Given the description of an element on the screen output the (x, y) to click on. 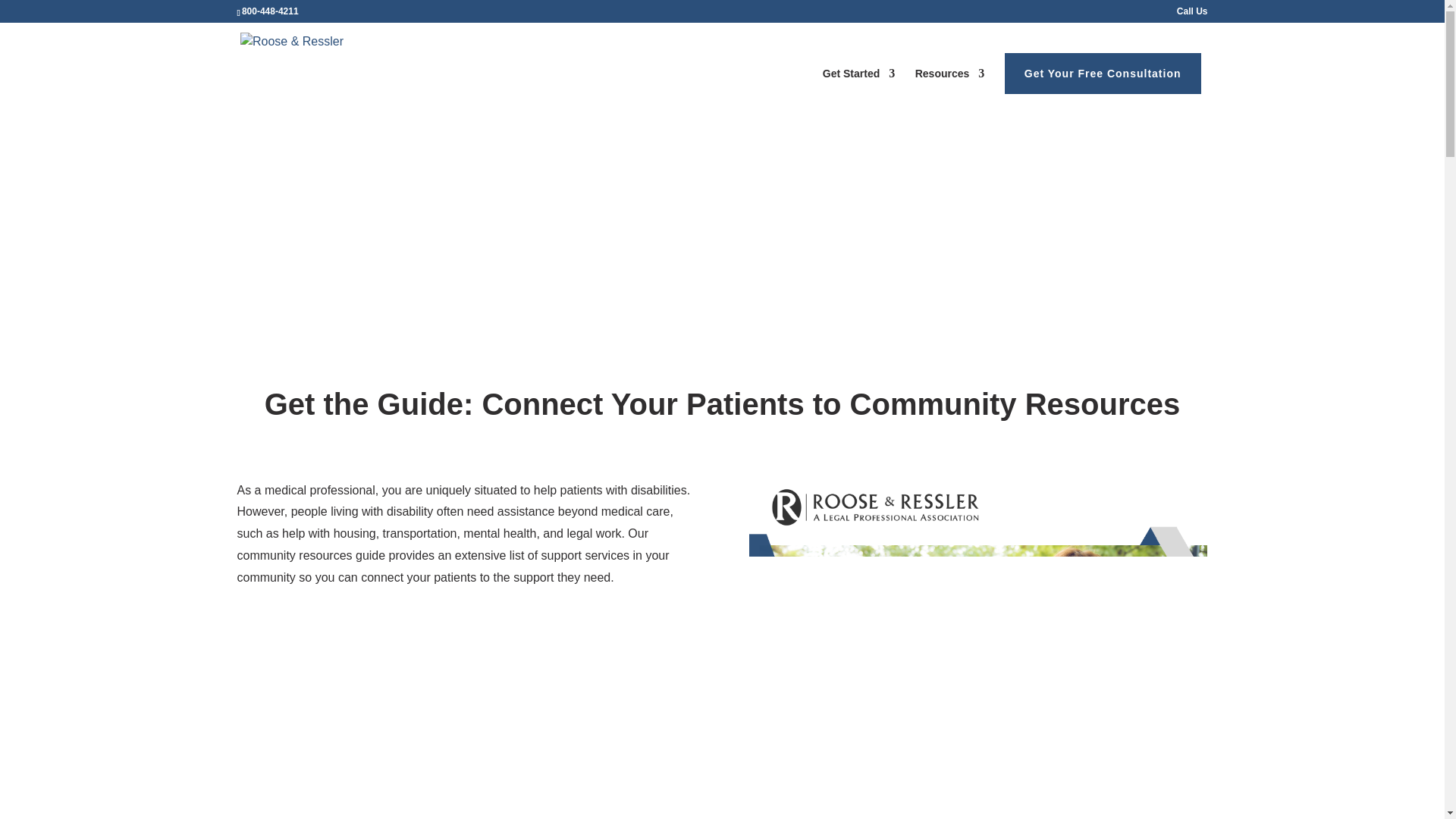
Call Us (1192, 14)
Get Started (858, 88)
Resources (950, 88)
Get Your Free Consultation (1102, 73)
